Given the description of an element on the screen output the (x, y) to click on. 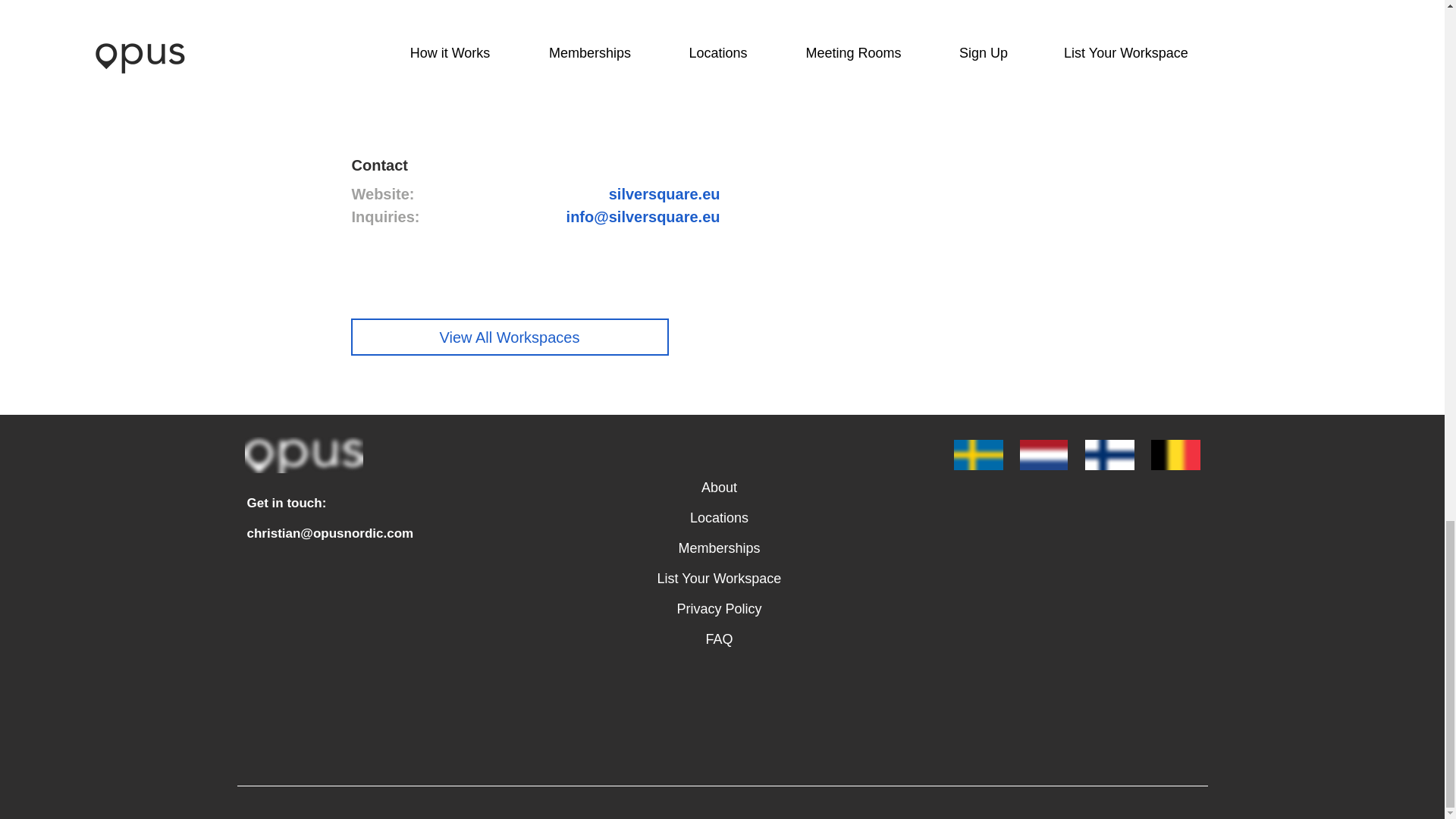
Locations (719, 518)
FAQ (718, 639)
View All Workspaces (509, 336)
Memberships (719, 548)
silversquare.eu (664, 193)
About (719, 488)
Google Maps (917, 217)
Privacy Policy (718, 609)
List Your Workspace (718, 579)
